Given the description of an element on the screen output the (x, y) to click on. 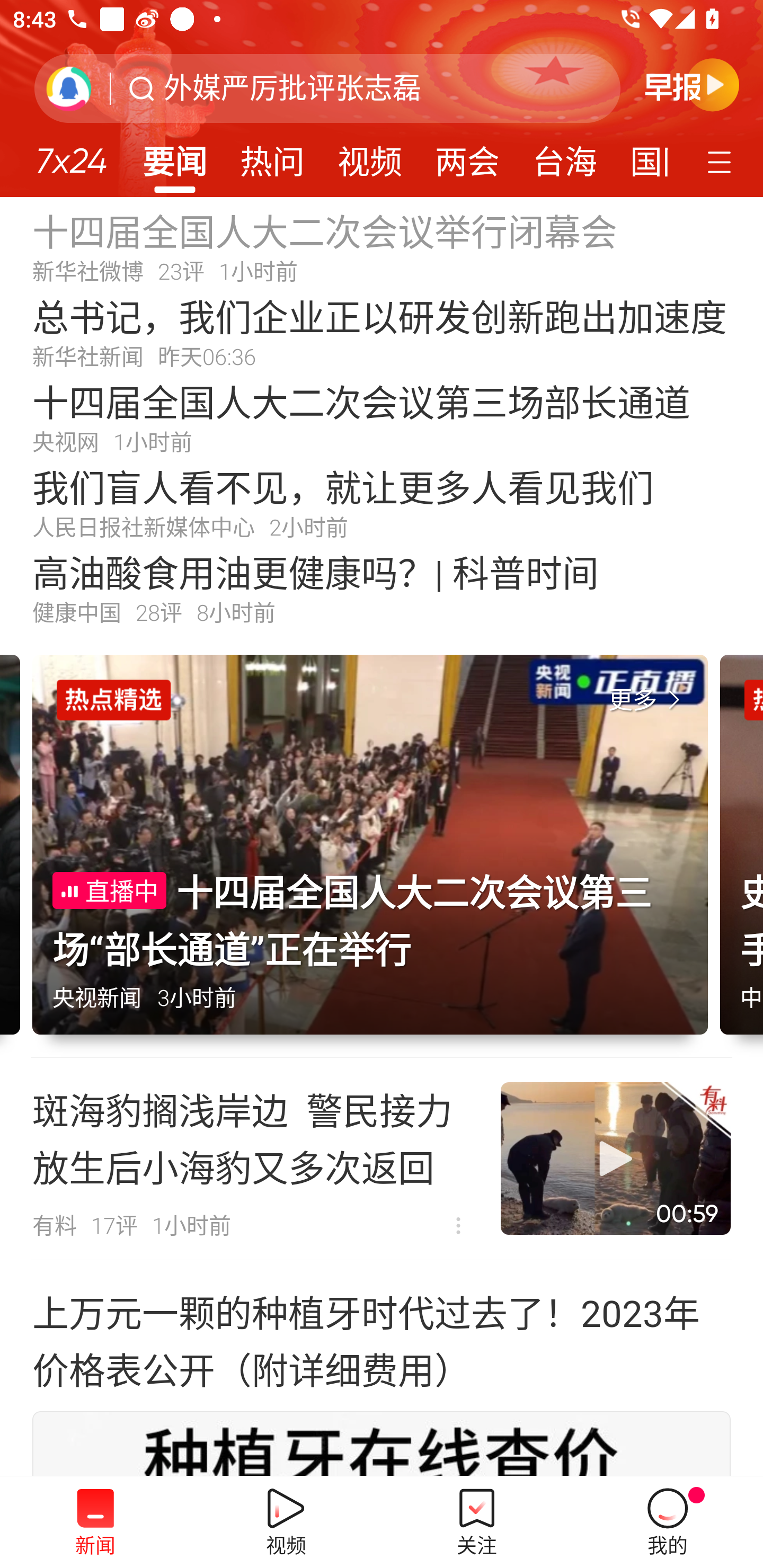
腾讯新闻 (381, 98)
早晚报 (691, 84)
刷新 (68, 88)
外媒严厉批评张志磊 (292, 88)
7x24 (70, 154)
要闻 (174, 155)
热问 (272, 155)
视频 (369, 155)
两会 (466, 155)
台海 (564, 155)
 定制频道 (721, 160)
十四届全国人大二次会议举行闭幕会 新华社微博 23评 1小时前 (381, 245)
总书记，我们企业正以研发创新跑出加速度 新华社新闻 昨天06:36 (381, 331)
十四届全国人大二次会议第三场部长通道 央视网 1小时前 (381, 416)
我们盲人看不见，就让更多人看见我们 人民日报社新媒体中心 2小时前 (381, 502)
高油酸食用油更健康吗？| 科普时间 健康中国 28评 8小时前 (381, 587)
更多   十四届全国人大二次会议第三场“部长通道”正在举行 直播中 央视新闻   3小时前 (376, 855)
更多  (648, 699)
斑海豹搁浅岸边  警民接力放生后小海豹又多次返回 有料 17评 1小时前  不感兴趣 00:59 (381, 1158)
 不感兴趣 (458, 1226)
上万元一颗的种植牙时代过去了！2023年价格表公开（附详细费用） (381, 1339)
